Given the description of an element on the screen output the (x, y) to click on. 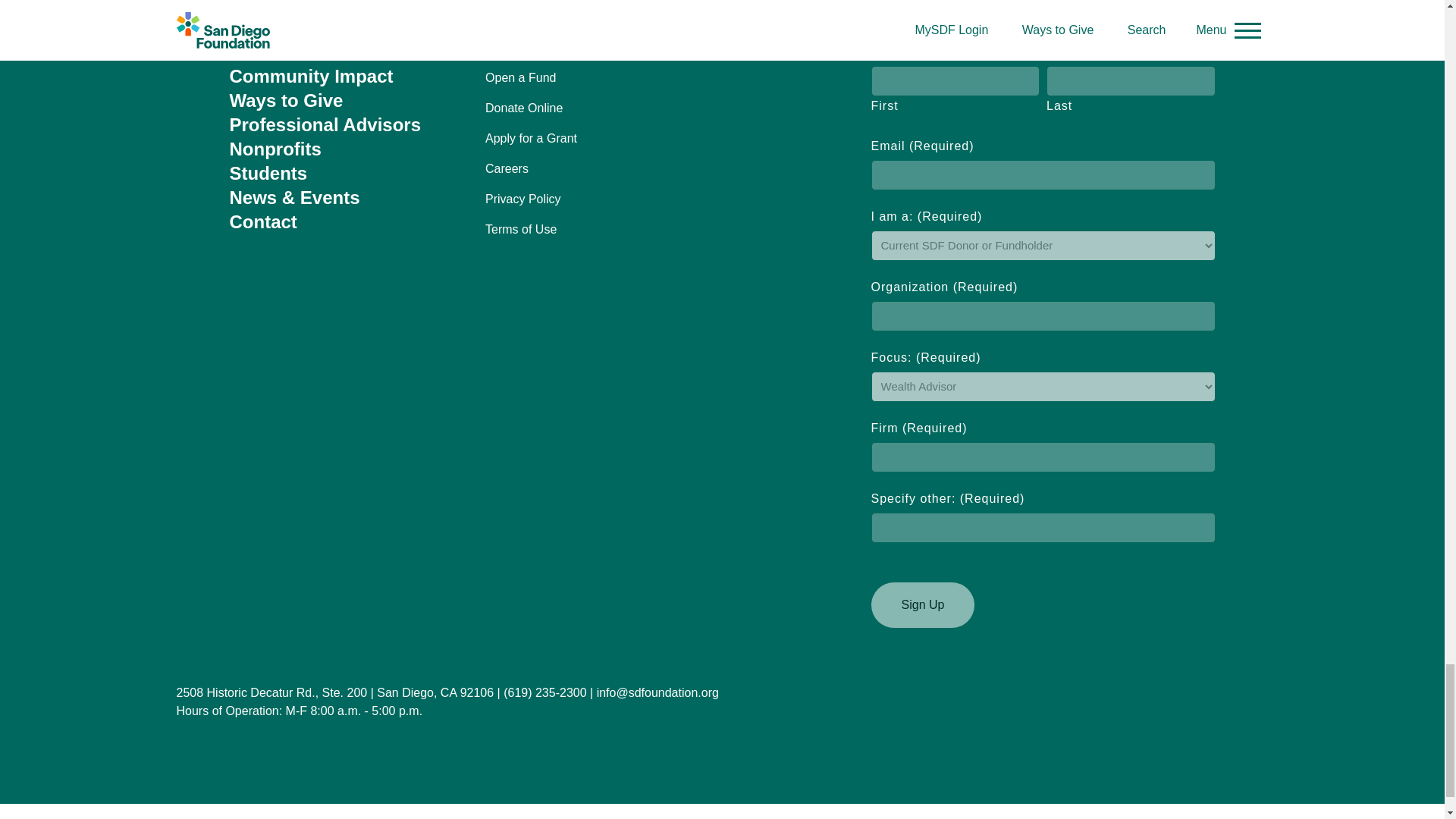
Sign Up (922, 605)
